Given the description of an element on the screen output the (x, y) to click on. 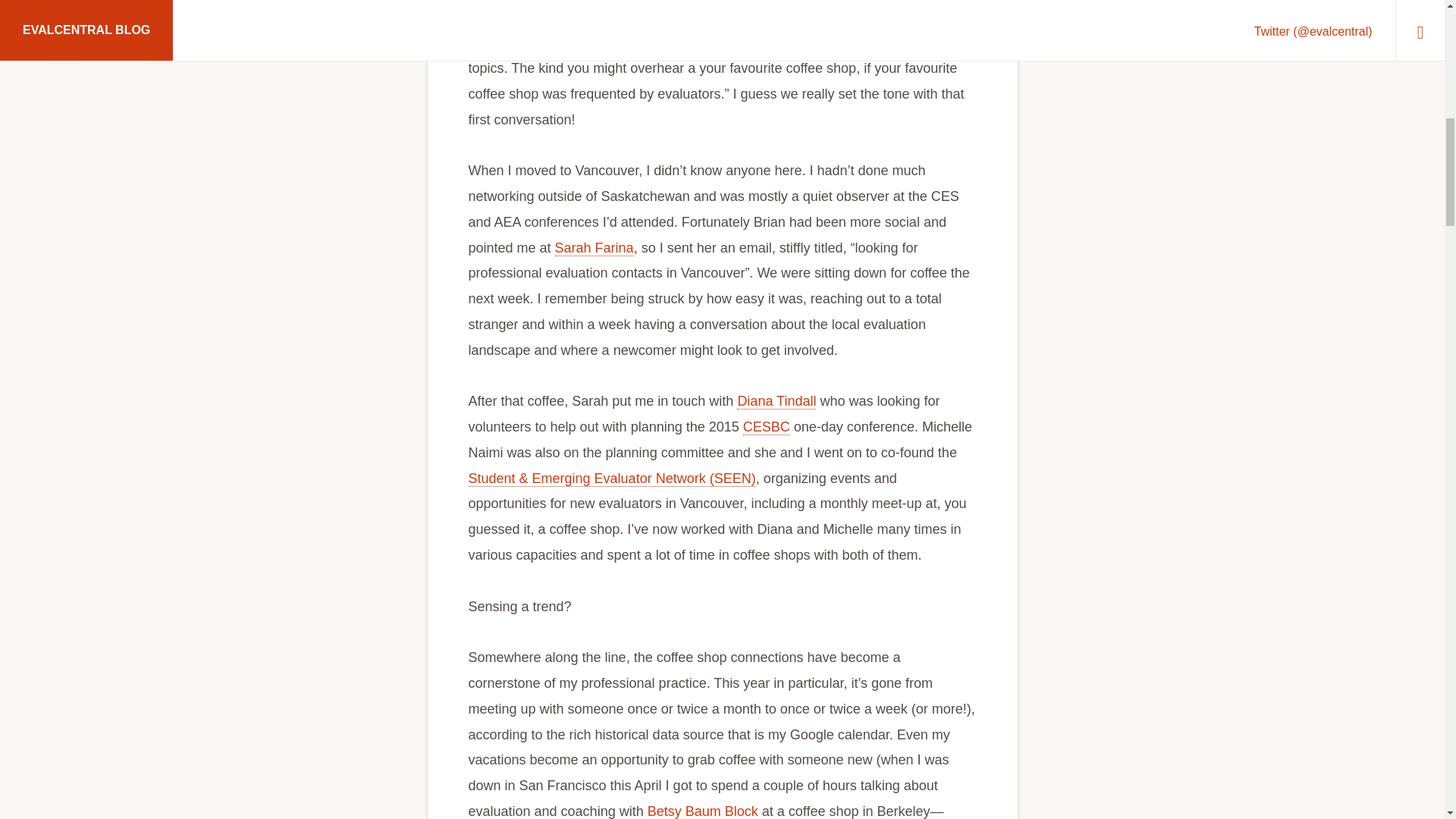
Betsy Baum Block (702, 811)
Diana Tindall (775, 401)
Eval Cafe (837, 17)
CESBC (766, 426)
Sarah Farina (593, 248)
